Given the description of an element on the screen output the (x, y) to click on. 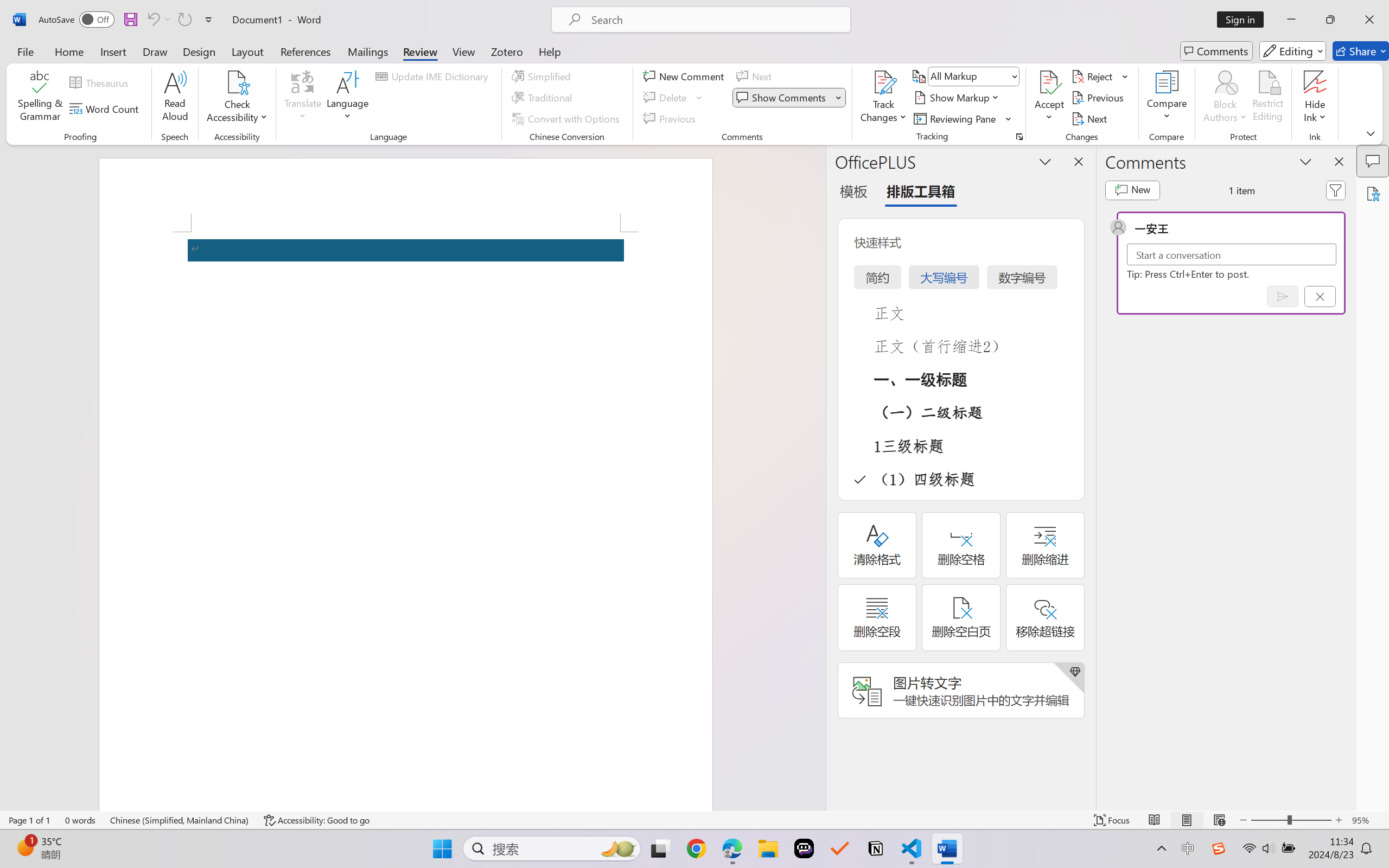
Accept and Move to Next (1049, 81)
Reject (1100, 75)
Start a conversation (1231, 254)
